Given the description of an element on the screen output the (x, y) to click on. 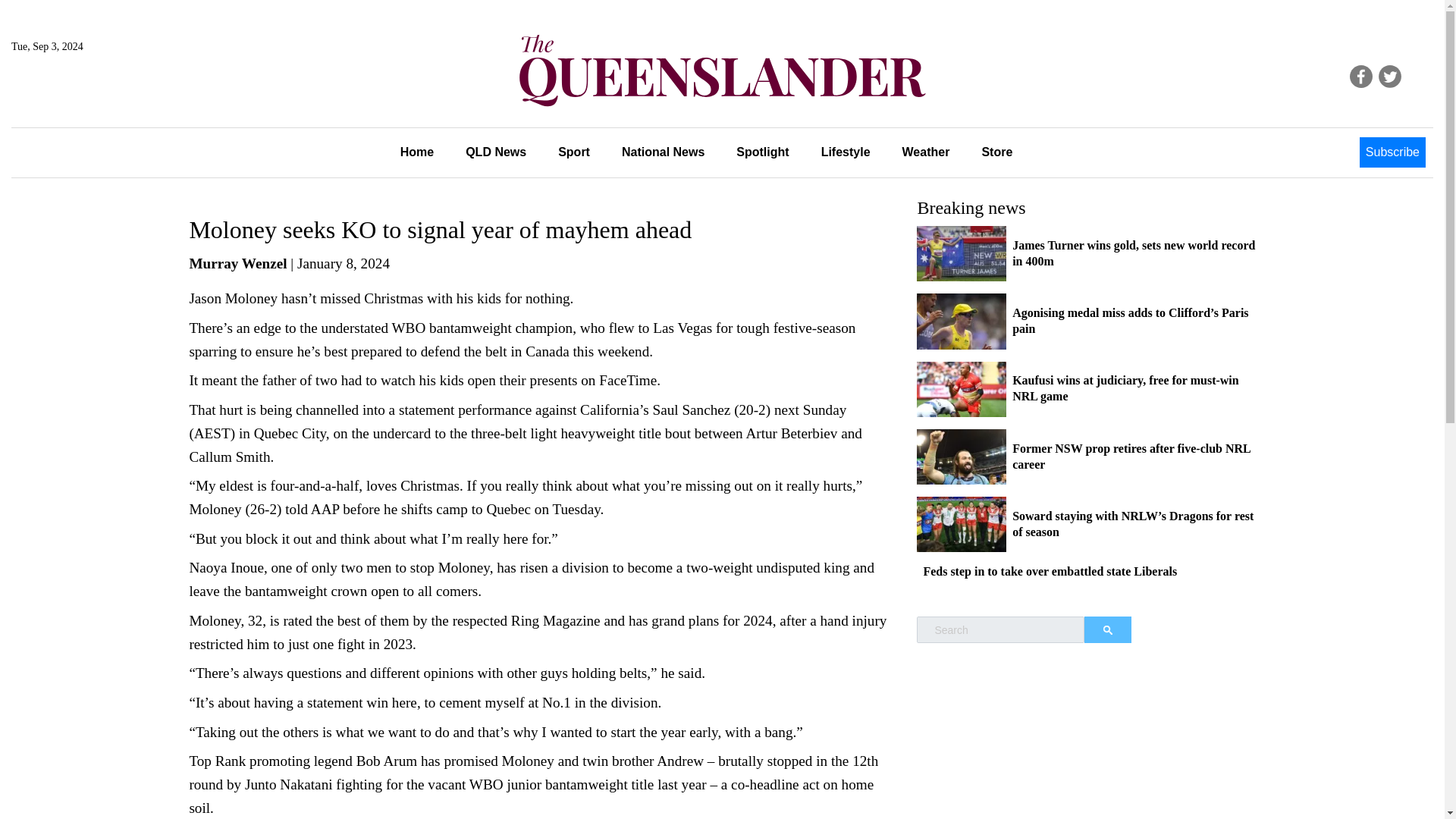
Former NSW prop retires after five-club NRL career (1130, 456)
Spotlight (762, 152)
Brisbane Forecast (84, 97)
Weather (926, 152)
Lifestyle (845, 152)
James Turner wins gold, sets new world record in 400m (1133, 253)
National News (662, 152)
Kaufusi wins at judiciary, free for must-win NRL game (1125, 387)
Search (1107, 629)
QLD News (495, 152)
